Given the description of an element on the screen output the (x, y) to click on. 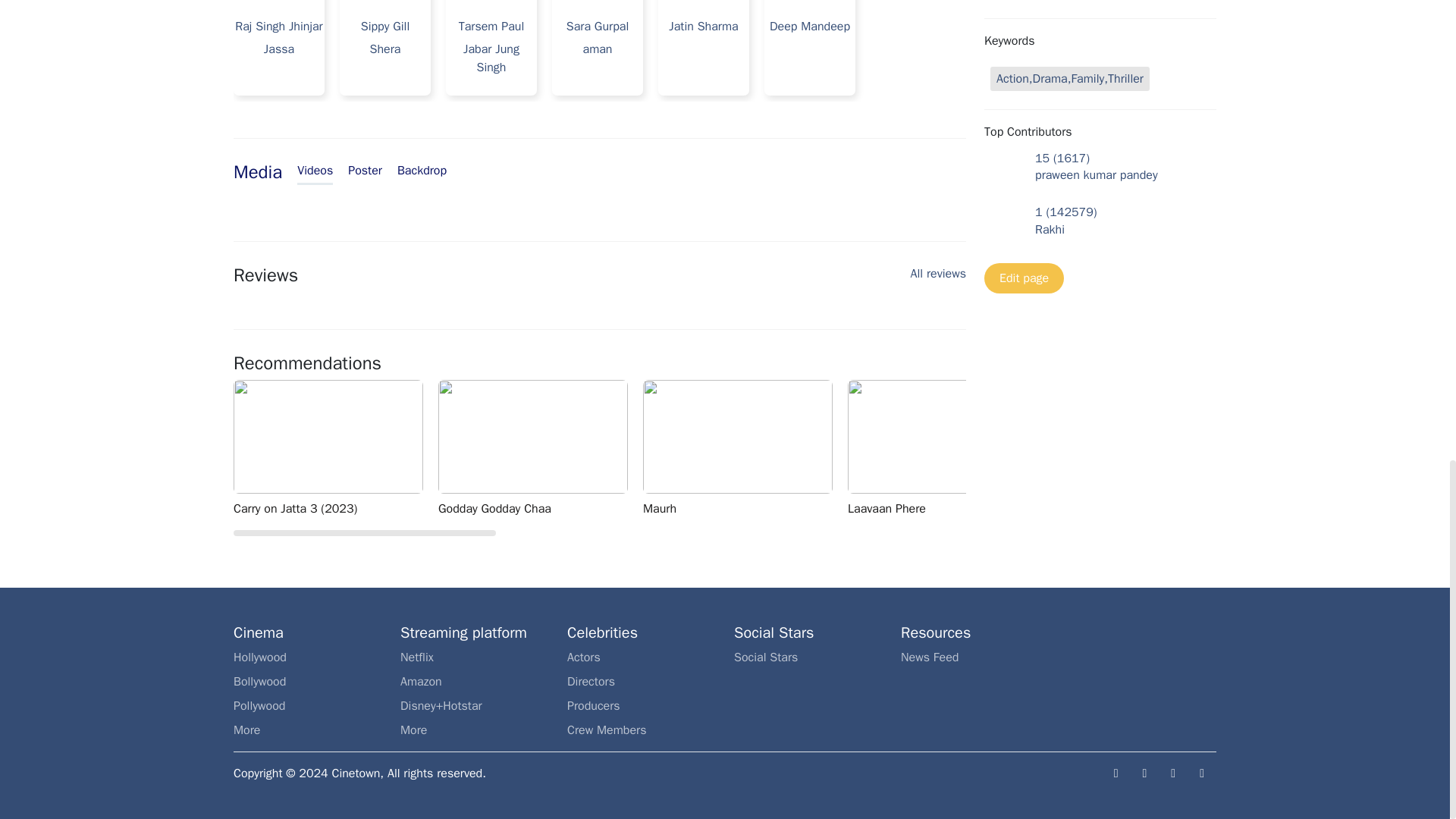
MEDAL (1154, 448)
All reviews (604, 41)
Videos (938, 278)
Poster (315, 173)
Godday Godday Chaa (285, 41)
Backdrop (498, 41)
Laavaan Phere (392, 41)
Maurh (364, 171)
Deep Mandeep (540, 448)
Jatin Sharma (421, 171)
